Given the description of an element on the screen output the (x, y) to click on. 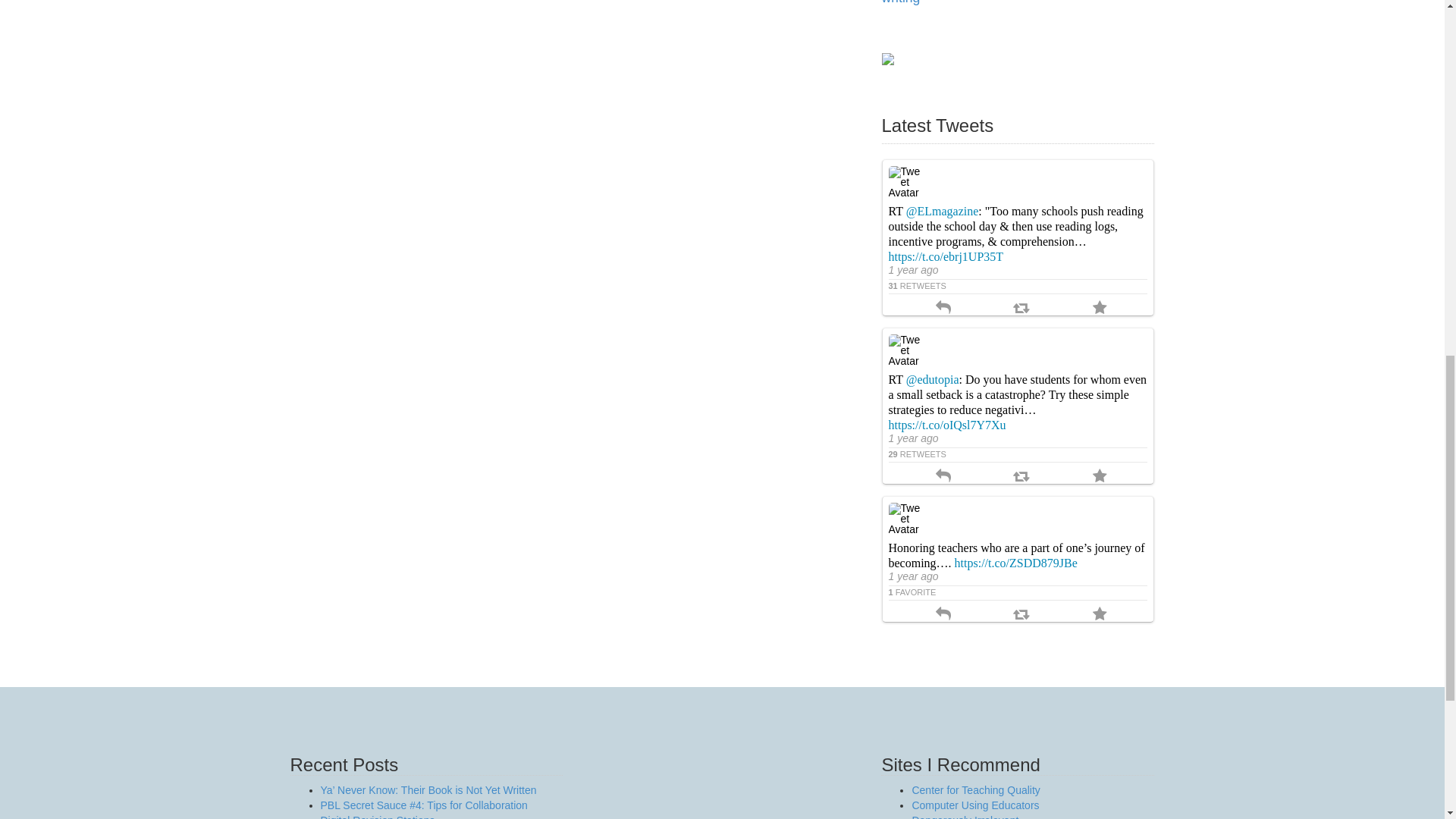
Favorite (1099, 309)
View Tweet on Twitter (1018, 285)
Retweet (1021, 309)
Reply (943, 309)
View Tweet on Twitter (1018, 453)
